Given the description of an element on the screen output the (x, y) to click on. 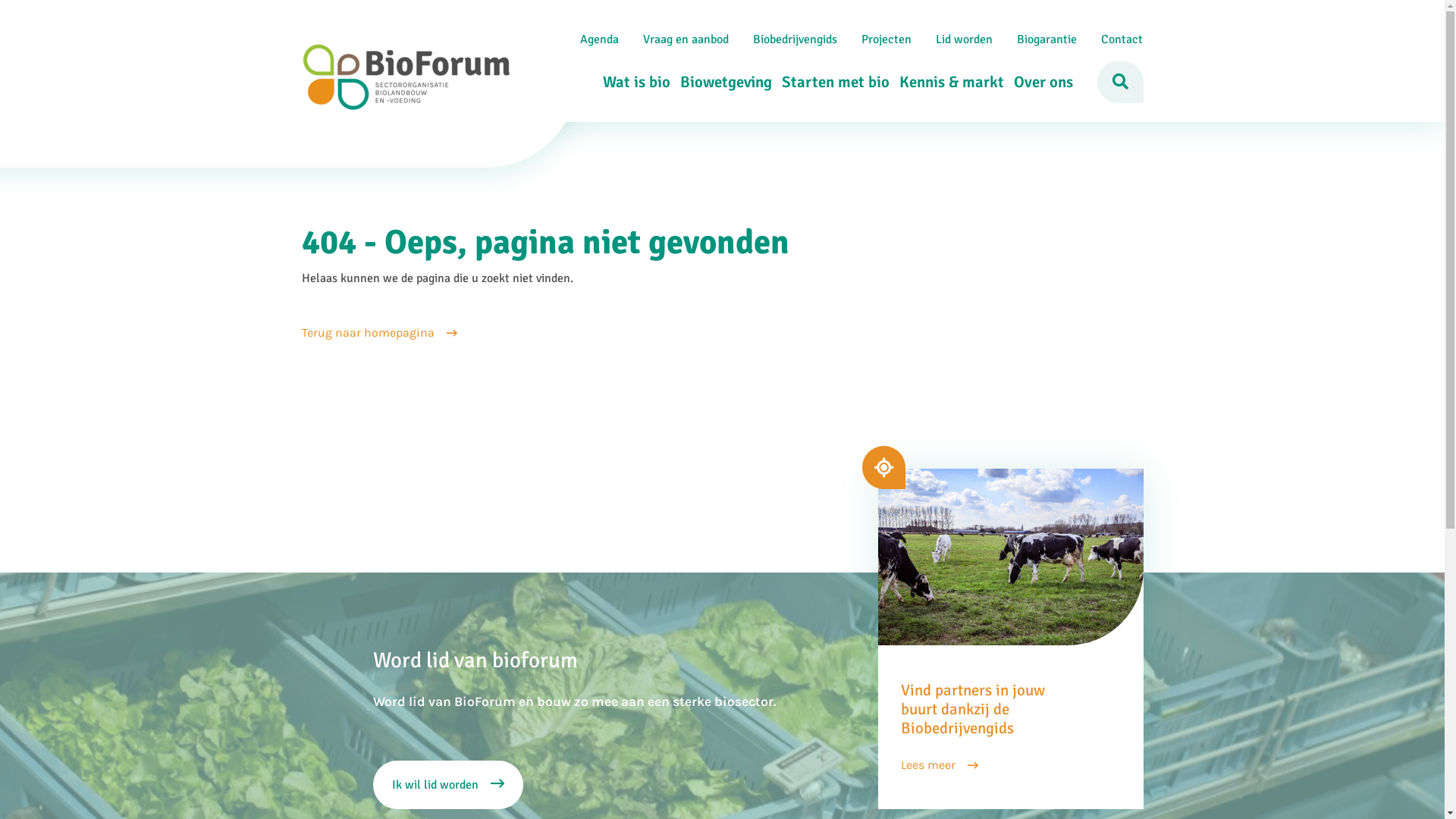
Lid worden Element type: text (963, 39)
Over ons Element type: text (1038, 81)
Ik wil lid worden Element type: text (448, 784)
Biogarantie Element type: text (1046, 39)
bioforum_logo Element type: hover (405, 76)
Biobedrijvengids Element type: text (794, 39)
Contact Element type: text (1121, 39)
Overslaan en naar de inhoud gaan Element type: text (721, 1)
Biowetgeving Element type: text (720, 81)
Terug naar homepagina Element type: text (379, 332)
Kennis & markt Element type: text (946, 81)
Lees meer Element type: text (939, 765)
Projecten Element type: text (886, 39)
Wat is bio Element type: text (632, 81)
Agenda Element type: text (598, 39)
Starten met bio Element type: text (830, 81)
Vraag en aanbod Element type: text (685, 39)
